Given the description of an element on the screen output the (x, y) to click on. 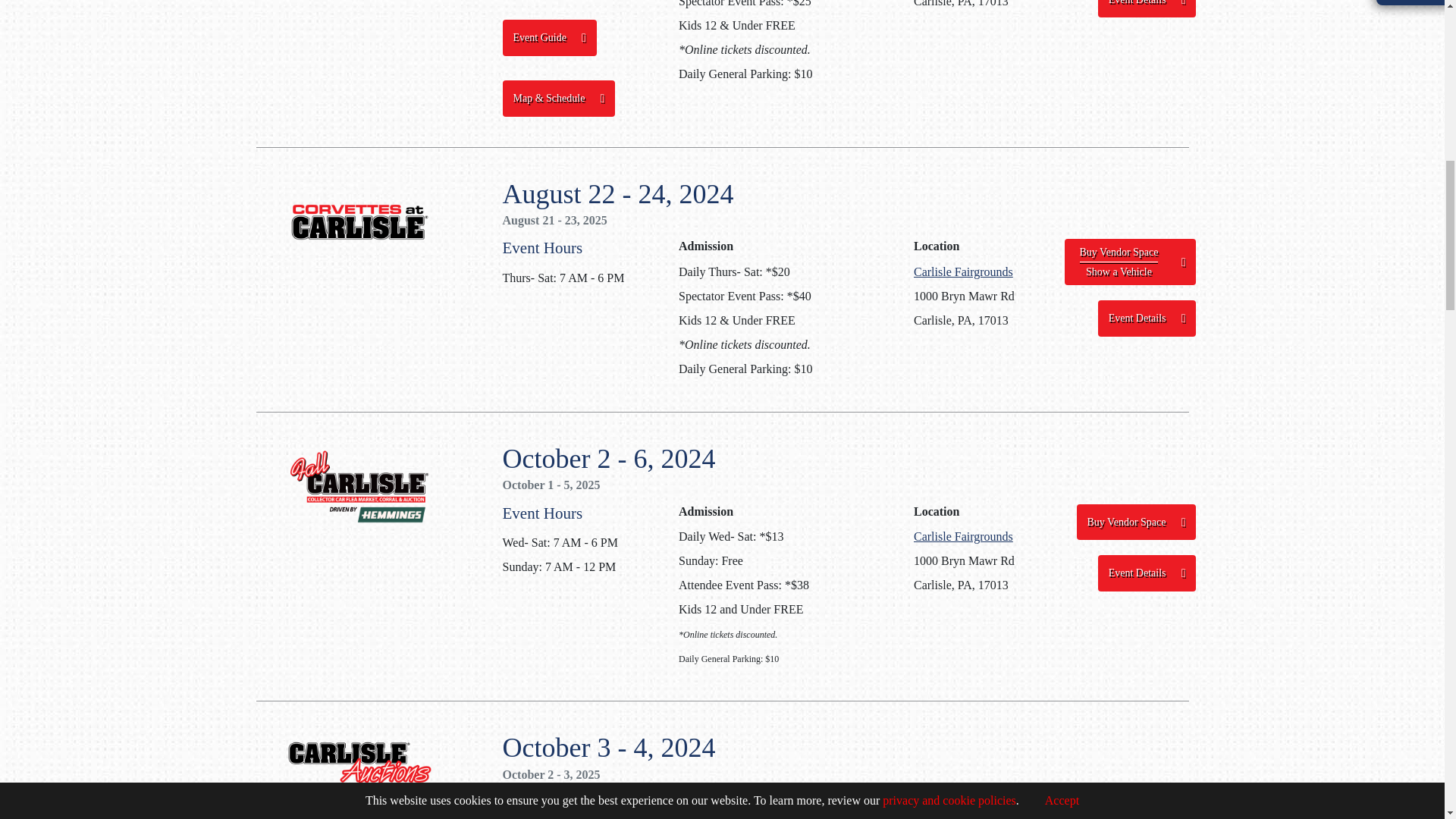
Corvettes at Carlisle (359, 221)
Fall Carlisle Collector Car Auction (359, 767)
